Given the description of an element on the screen output the (x, y) to click on. 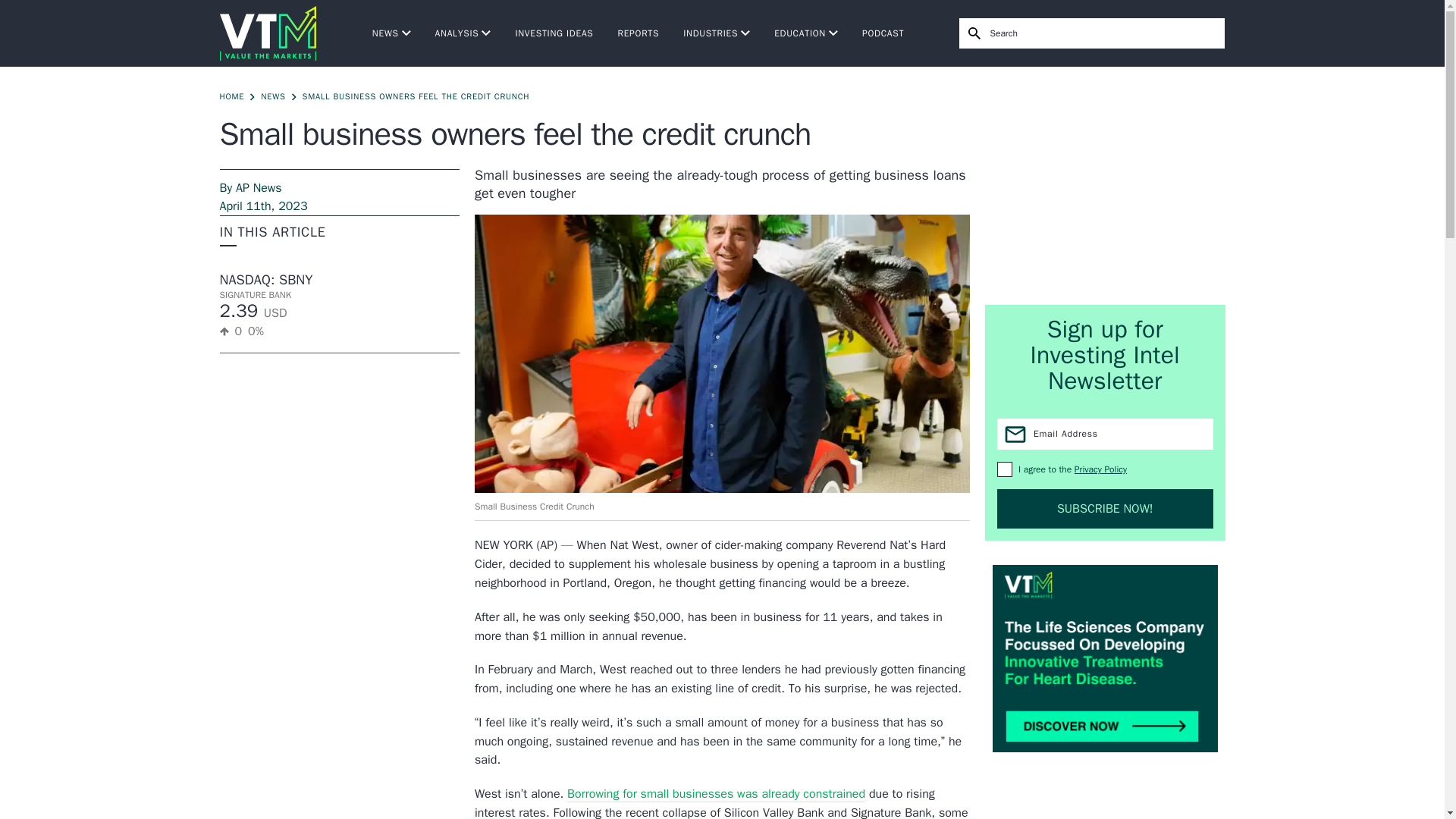
INVESTING IDEAS (553, 33)
PODCAST (882, 33)
INDUSTRIES (715, 33)
Advertisement (1105, 185)
NEWS (391, 33)
ANALYSIS (463, 33)
EDUCATION (806, 33)
REPORTS (638, 33)
Yes (1004, 468)
